Given the description of an element on the screen output the (x, y) to click on. 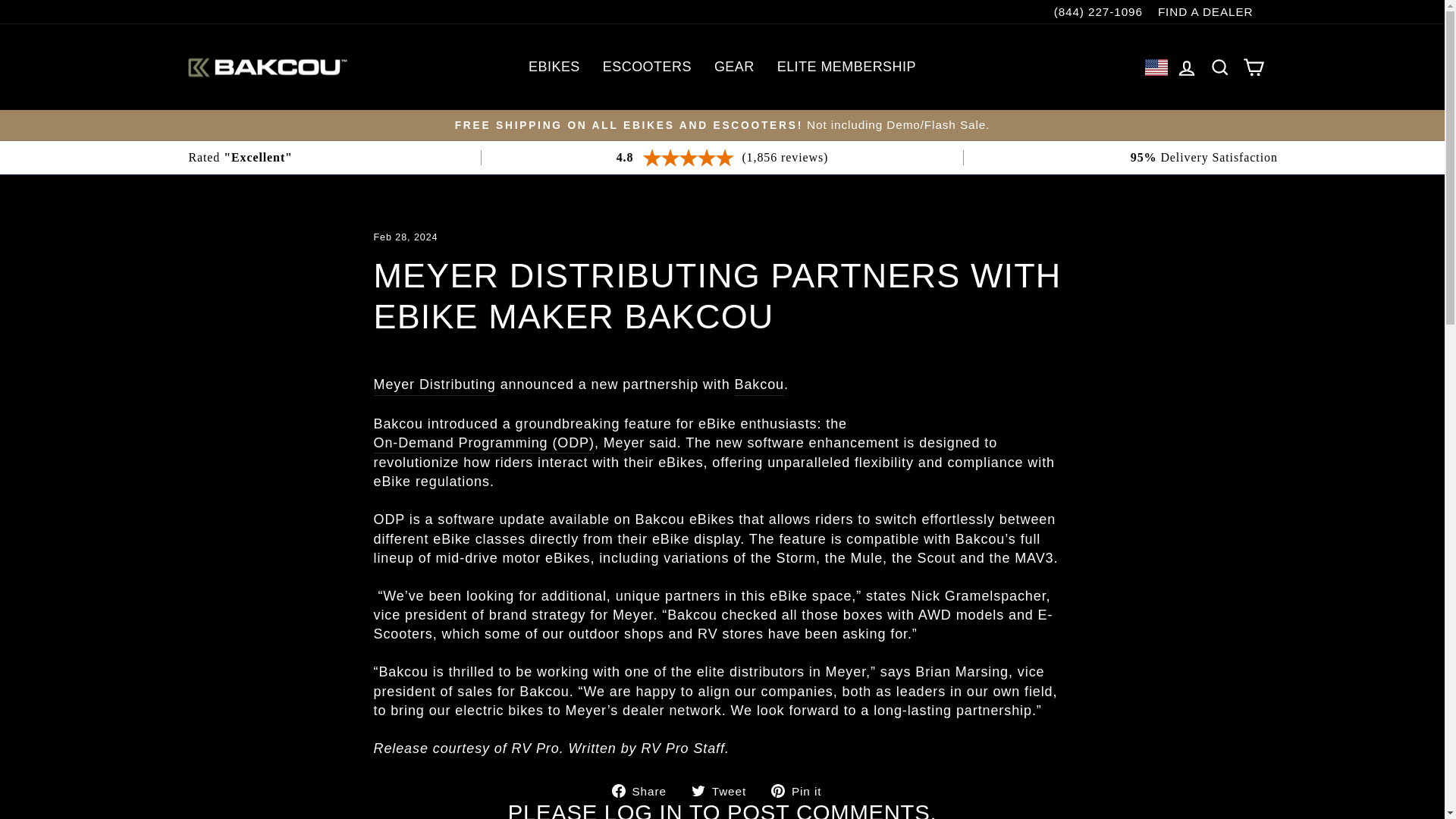
Pin on Pinterest (801, 790)
Tweet on Twitter (724, 790)
Share on Facebook (644, 790)
